Given the description of an element on the screen output the (x, y) to click on. 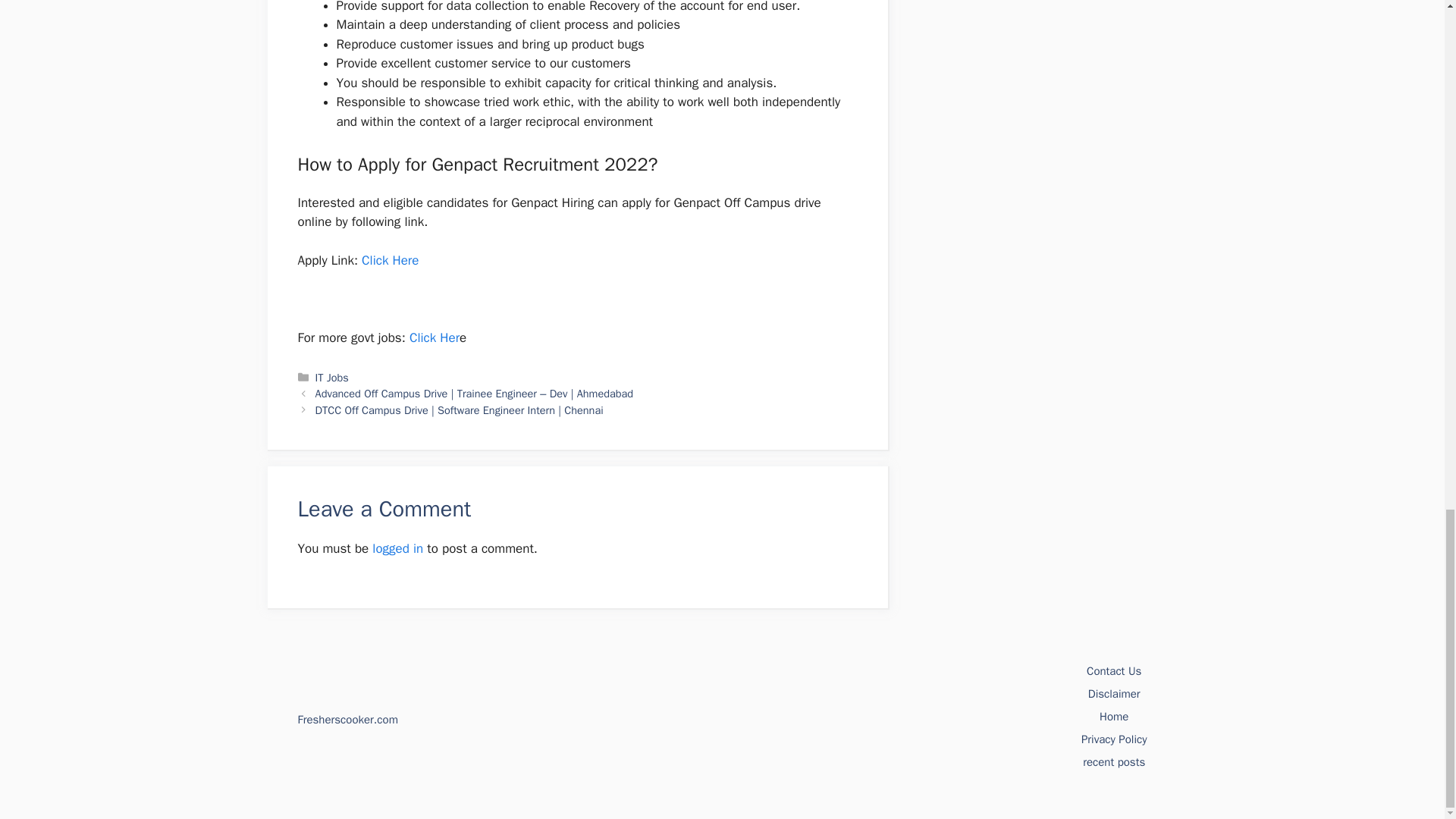
recent posts (1113, 762)
Privacy Policy (1114, 739)
Contact Us (1113, 671)
IT Jobs (332, 377)
logged in (397, 548)
Click Here (390, 260)
Disclaimer (1113, 694)
Home (1113, 716)
Click Her (434, 337)
